Given the description of an element on the screen output the (x, y) to click on. 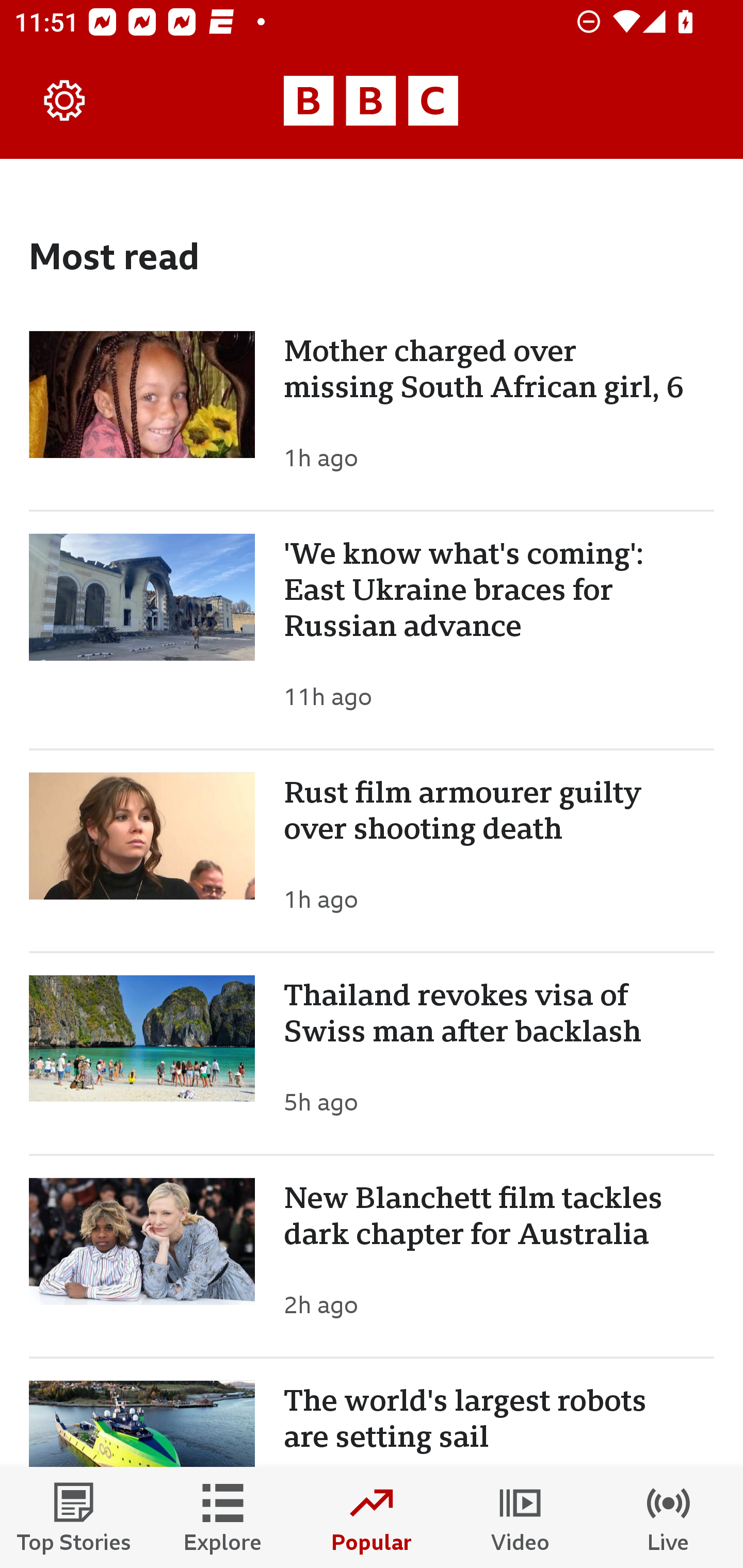
Settings (64, 100)
Top Stories (74, 1517)
Explore (222, 1517)
Video (519, 1517)
Live (668, 1517)
